Given the description of an element on the screen output the (x, y) to click on. 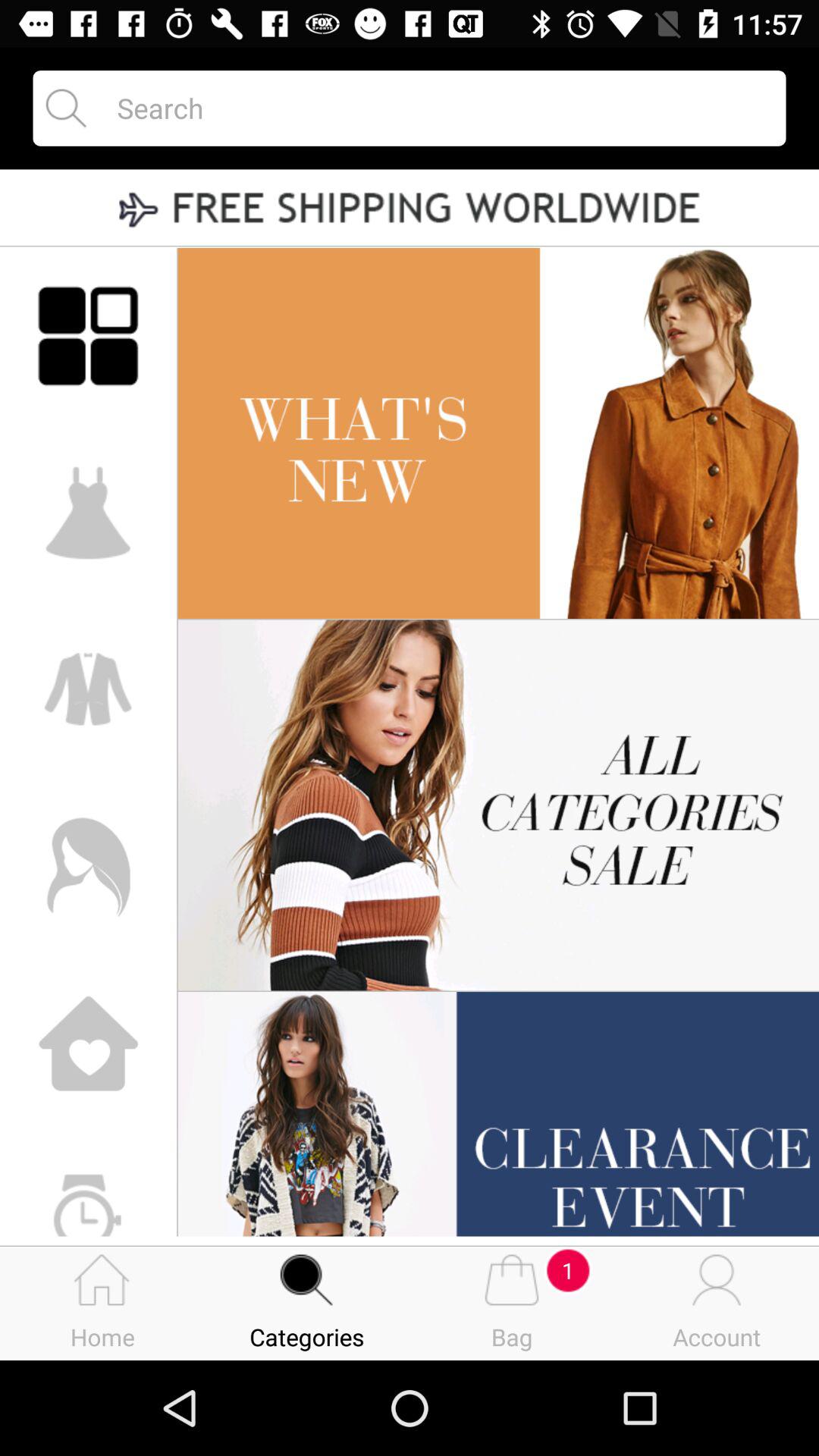
search (437, 108)
